Given the description of an element on the screen output the (x, y) to click on. 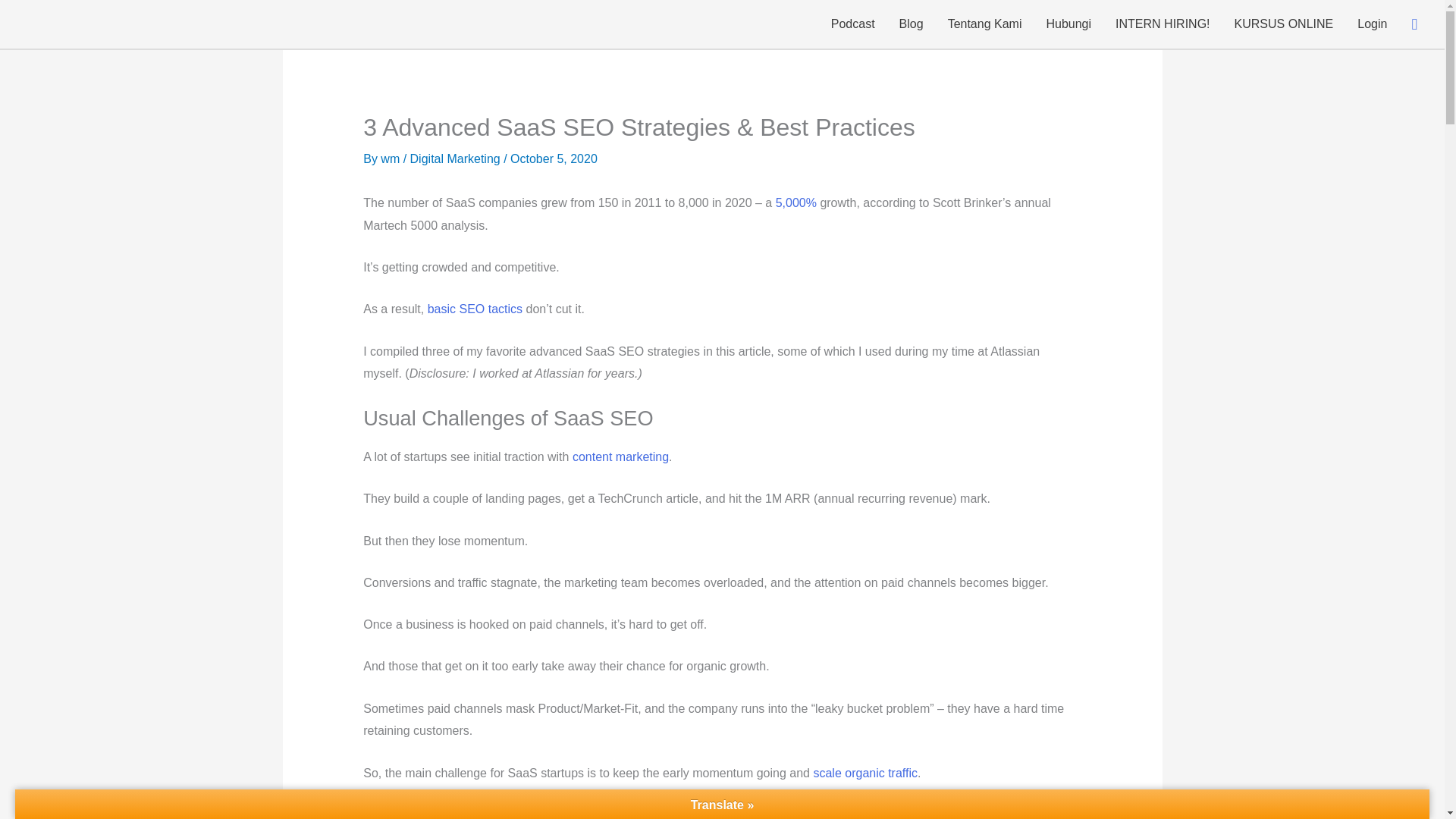
Hubungi (1068, 24)
scale organic traffic (864, 772)
INTERN HIRING! (1162, 24)
Login (1372, 24)
content marketing (620, 456)
title optimization (428, 813)
View all posts by wm (391, 158)
wm (391, 158)
Podcast (852, 24)
Digital Marketing (455, 158)
